Given the description of an element on the screen output the (x, y) to click on. 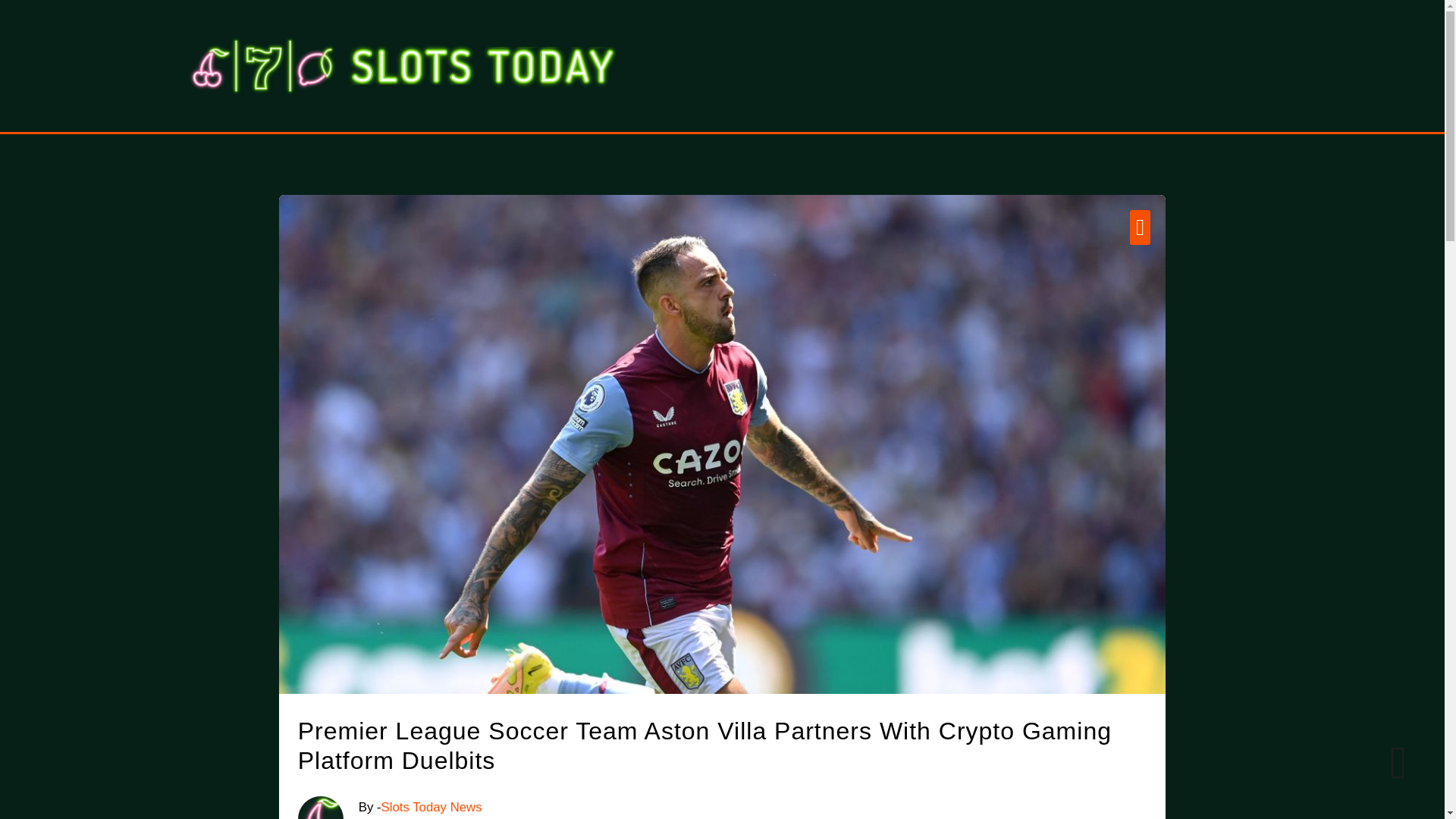
Slots Today News (431, 807)
